Given the description of an element on the screen output the (x, y) to click on. 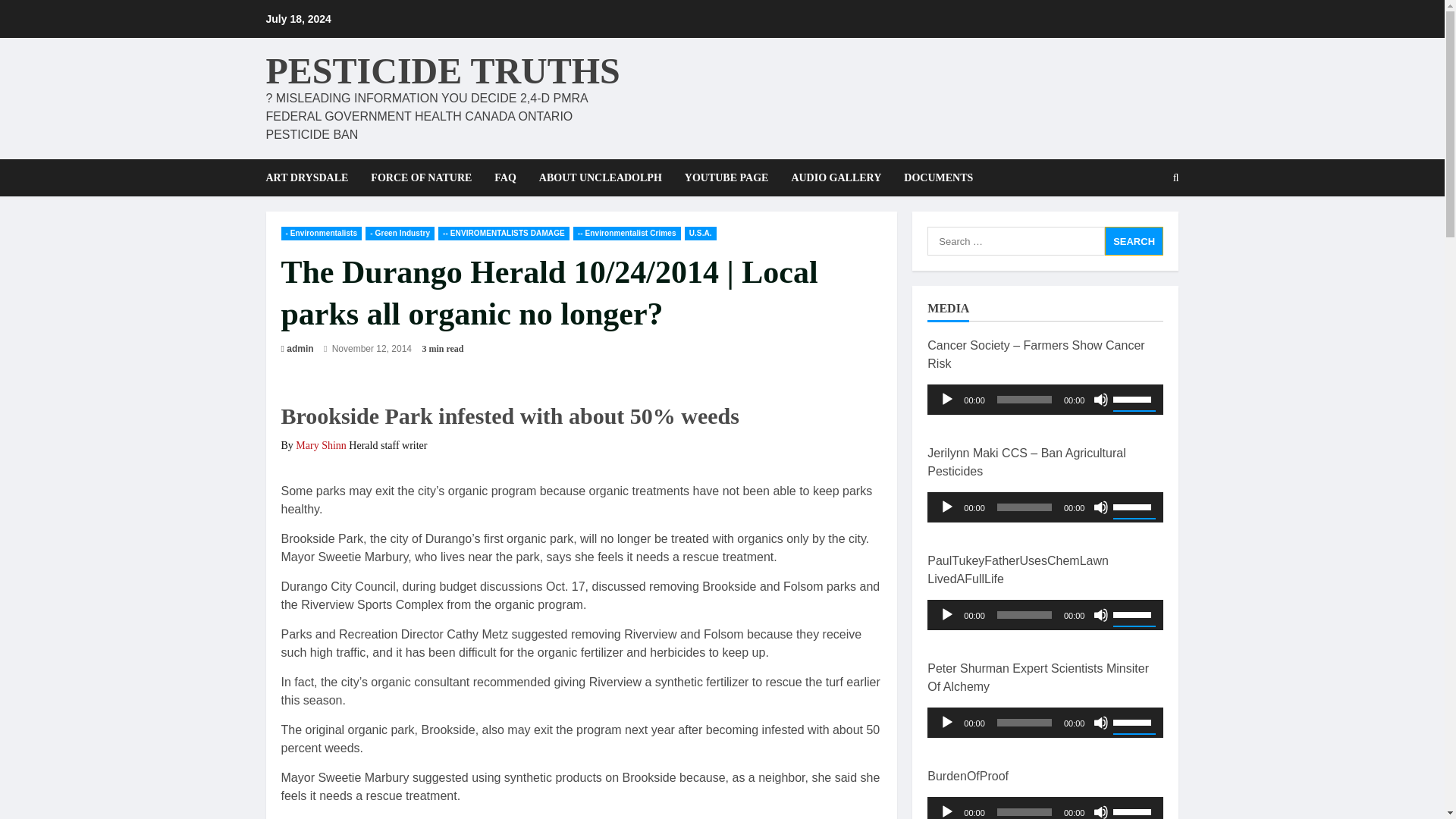
ABOUT UNCLEADOLPH (599, 177)
FAQ (505, 177)
Play (947, 399)
Play (947, 507)
U.S.A. (700, 233)
Mary Shinn (320, 445)
- Environmentalists (321, 233)
Search (1134, 240)
-- Environmentalist Crimes (627, 233)
FORCE OF NATURE (421, 177)
ART DRYSDALE (311, 177)
AUDIO GALLERY (835, 177)
DOCUMENTS (932, 177)
Search (1139, 229)
Search (1134, 240)
